Given the description of an element on the screen output the (x, y) to click on. 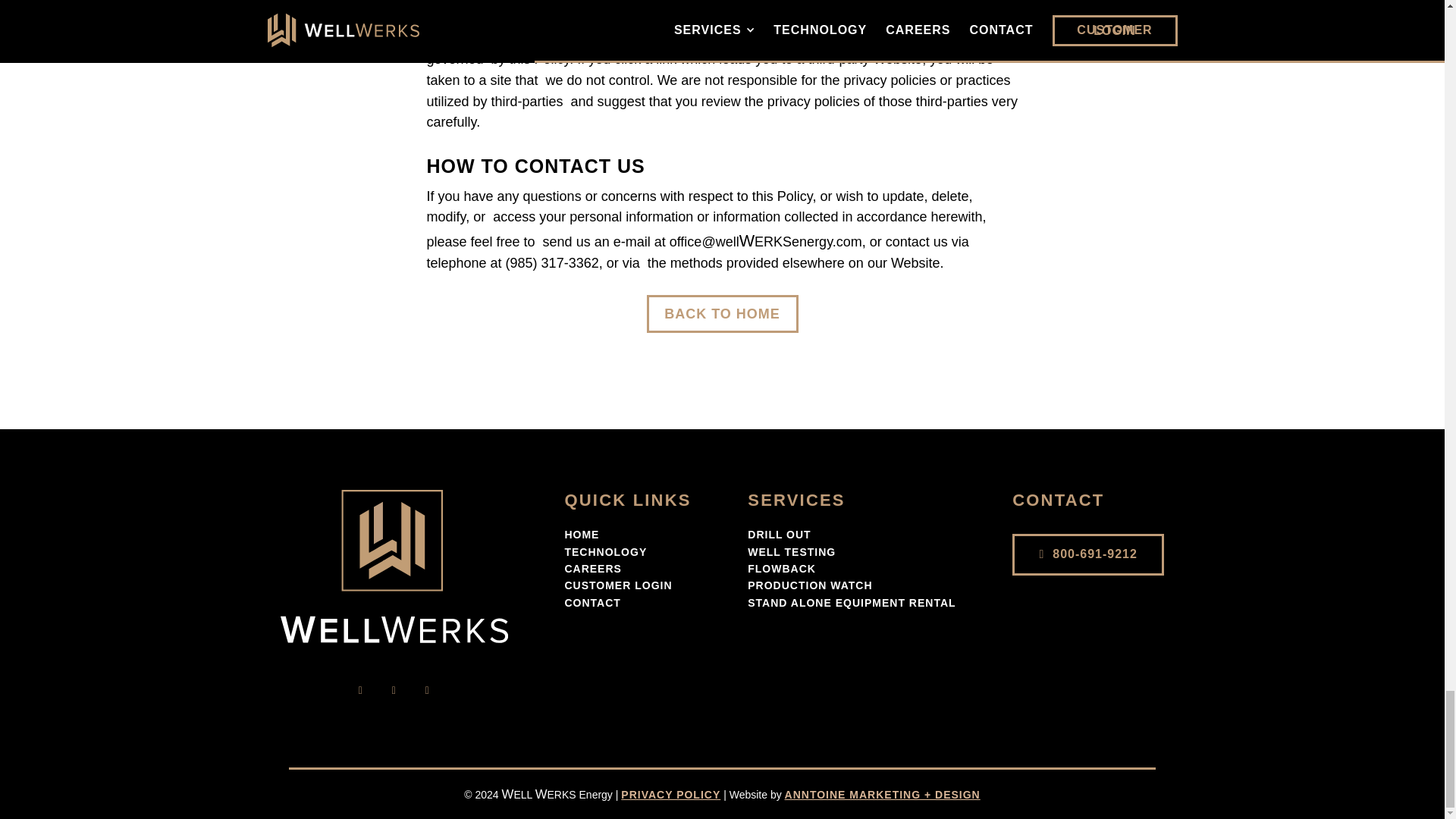
PRODUCTION WATCH (810, 585)
STAND ALONE EQUIPMENT RENTAL (851, 603)
HOME (581, 534)
CAREERS (592, 568)
CUSTOMER LOGIN (617, 585)
BACK TO HOME (721, 313)
TECHNOLOGY (605, 551)
FLOWBACK (781, 568)
DRILL OUT (779, 534)
CONTACT (592, 603)
WELL TESTING (791, 551)
